Given the description of an element on the screen output the (x, y) to click on. 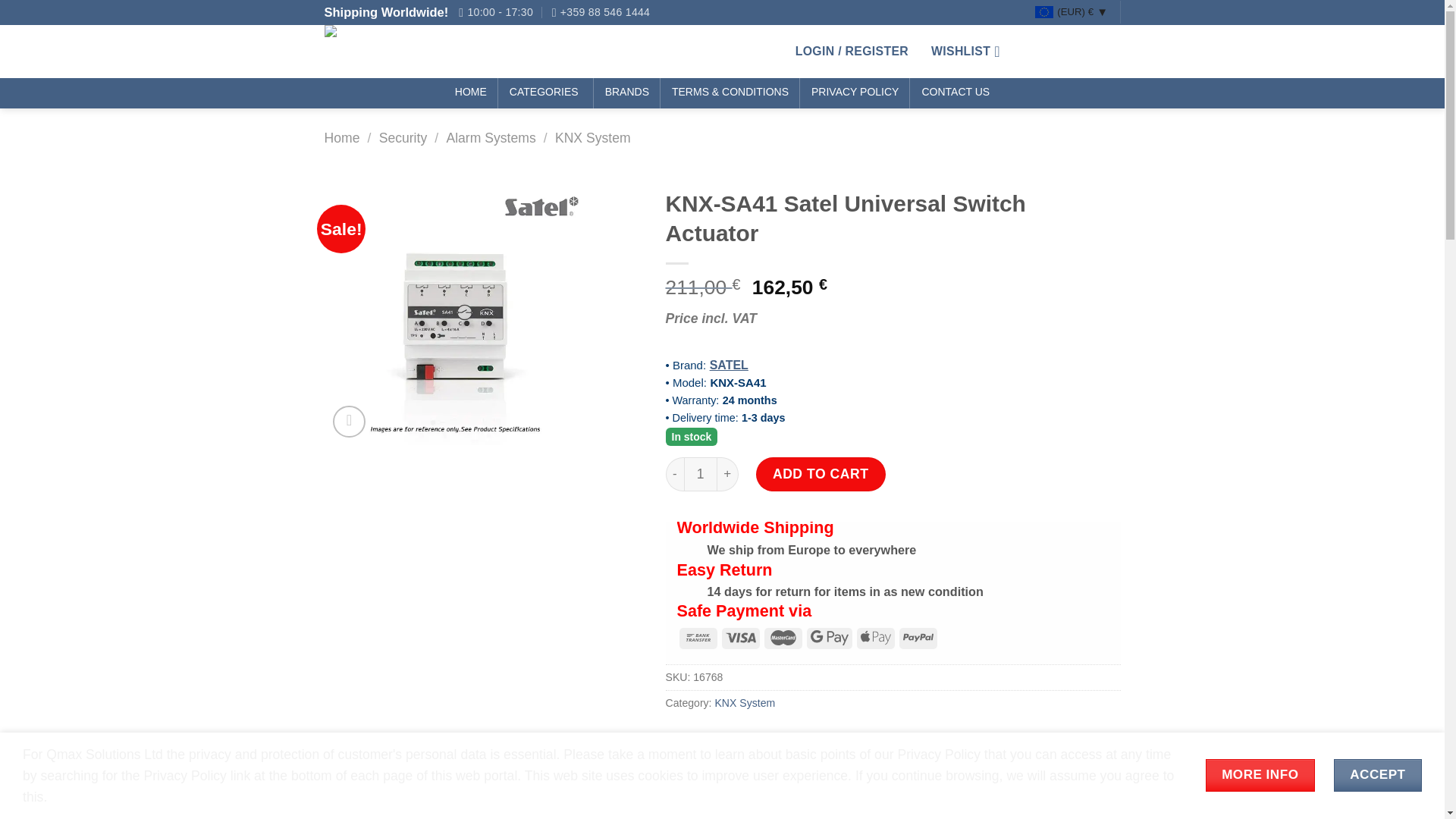
Zoom (349, 421)
WISHLIST (965, 51)
1 (700, 473)
HOME (470, 93)
CATEGORIES (545, 93)
Email to a Friend (740, 738)
10:00 - 17:30 (495, 12)
Search (764, 50)
Pin on Pinterest (770, 738)
Qmax (410, 51)
Cart (1070, 50)
Share on Twitter (710, 738)
Share on Facebook (680, 738)
